Given the description of an element on the screen output the (x, y) to click on. 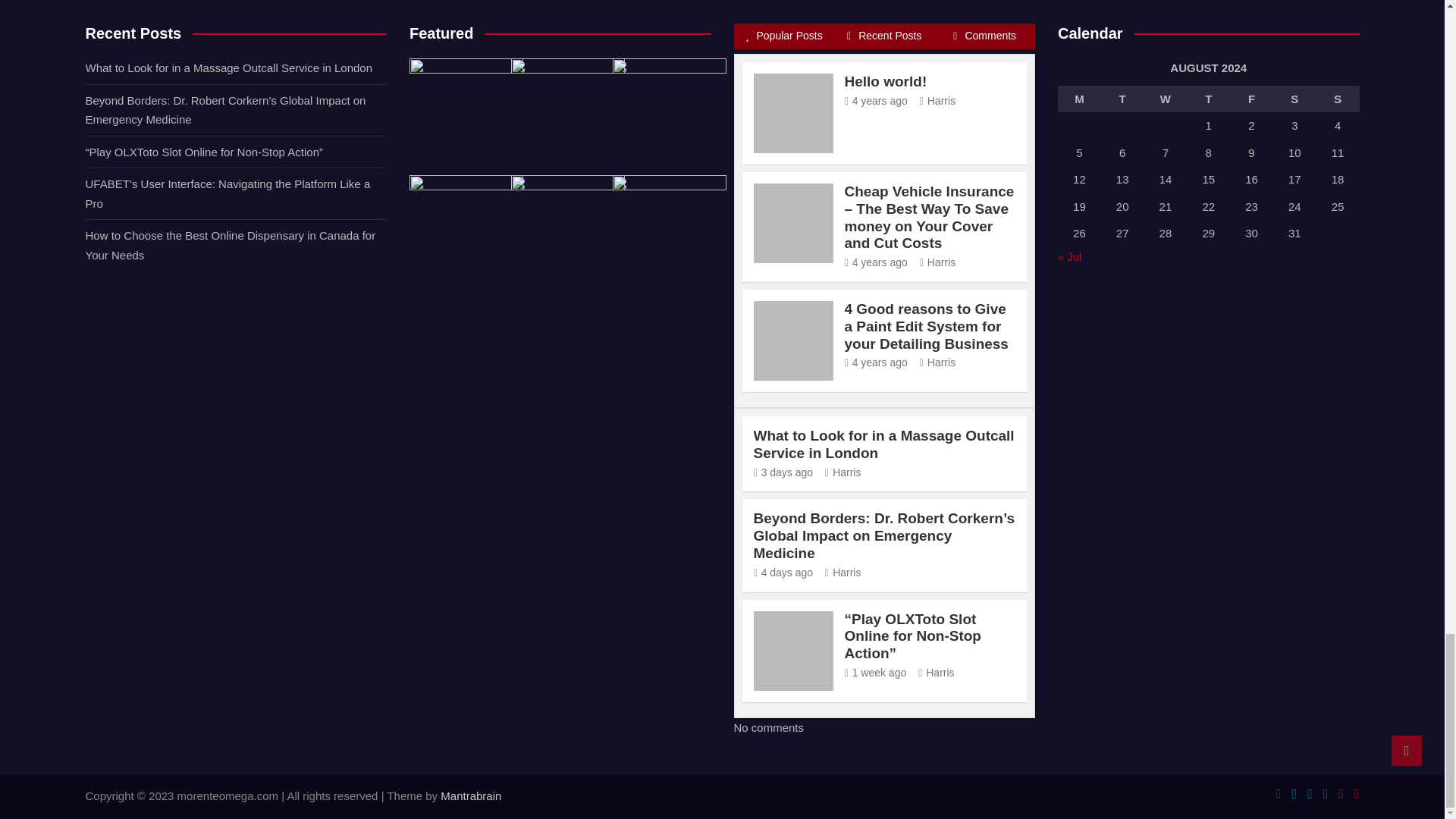
Saturday (1294, 99)
Monday (1079, 99)
Wednesday (1166, 99)
Hello world! (875, 101)
Tuesday (1122, 99)
Thursday (1208, 99)
Sunday (1337, 99)
Friday (1251, 99)
What to Look for in a Massage Outcall Service in London (783, 472)
